Given the description of an element on the screen output the (x, y) to click on. 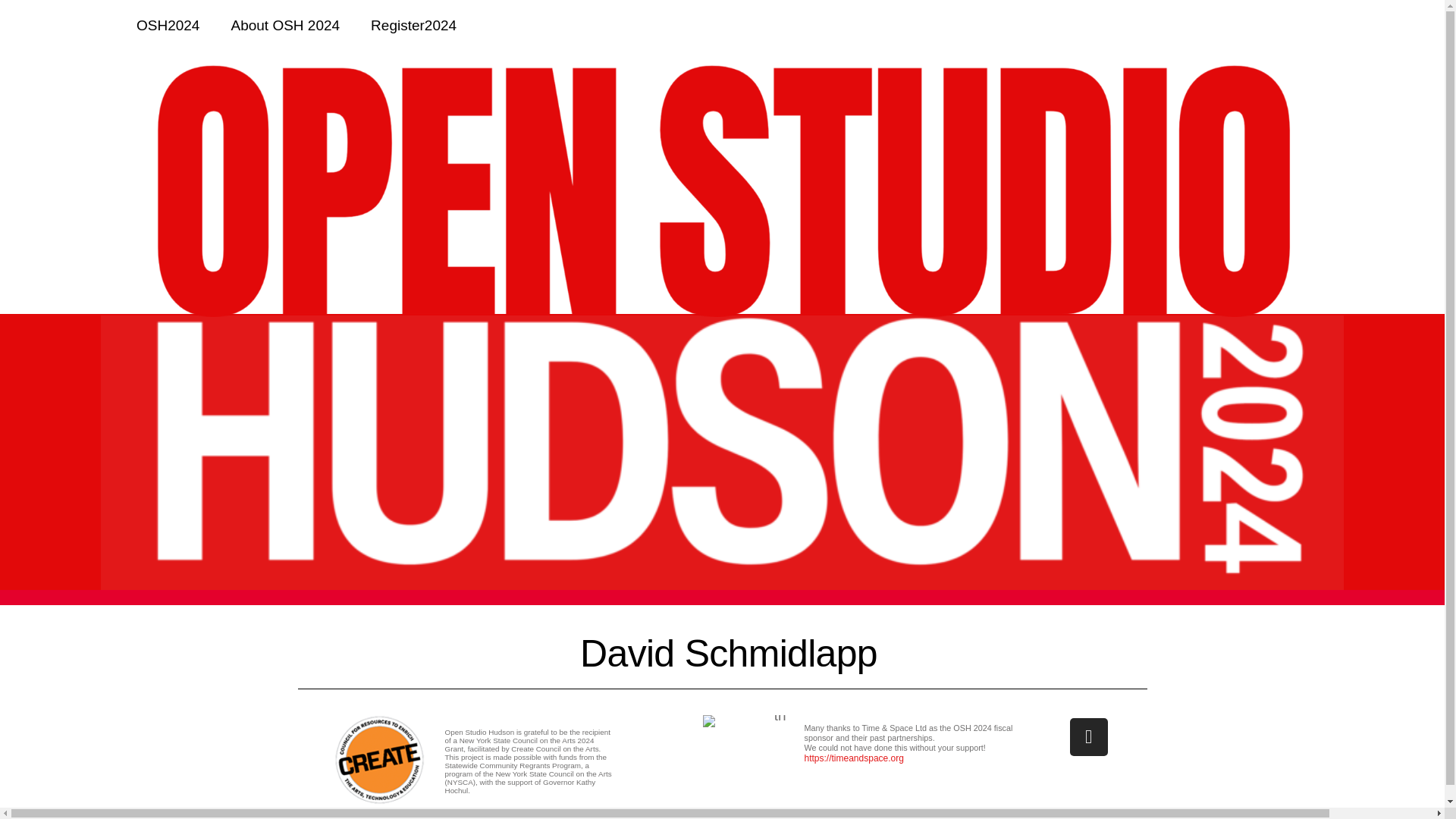
About OSH 2024 (285, 25)
OSH2024 (167, 25)
th (744, 720)
Register2024 (413, 25)
